Given the description of an element on the screen output the (x, y) to click on. 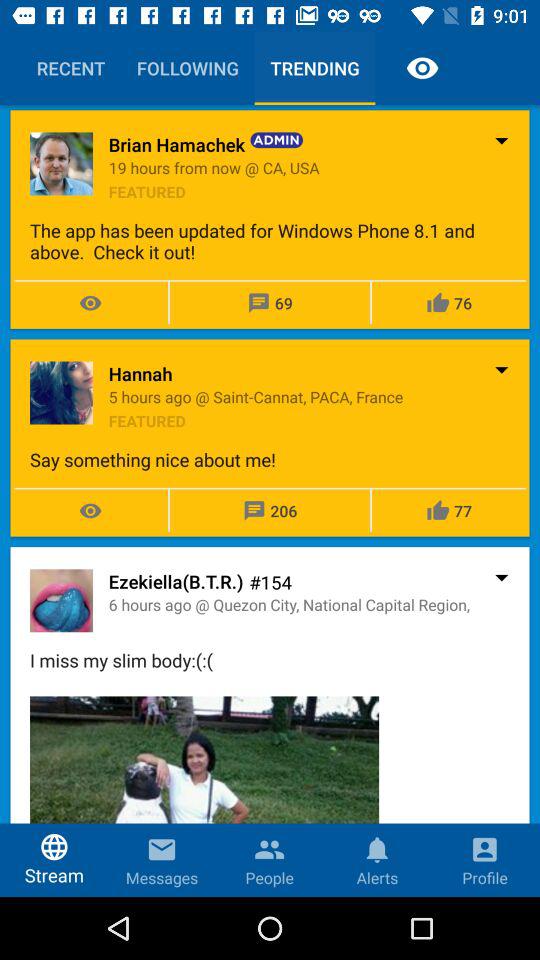
press the icon to the left of the #154 item (175, 581)
